Given the description of an element on the screen output the (x, y) to click on. 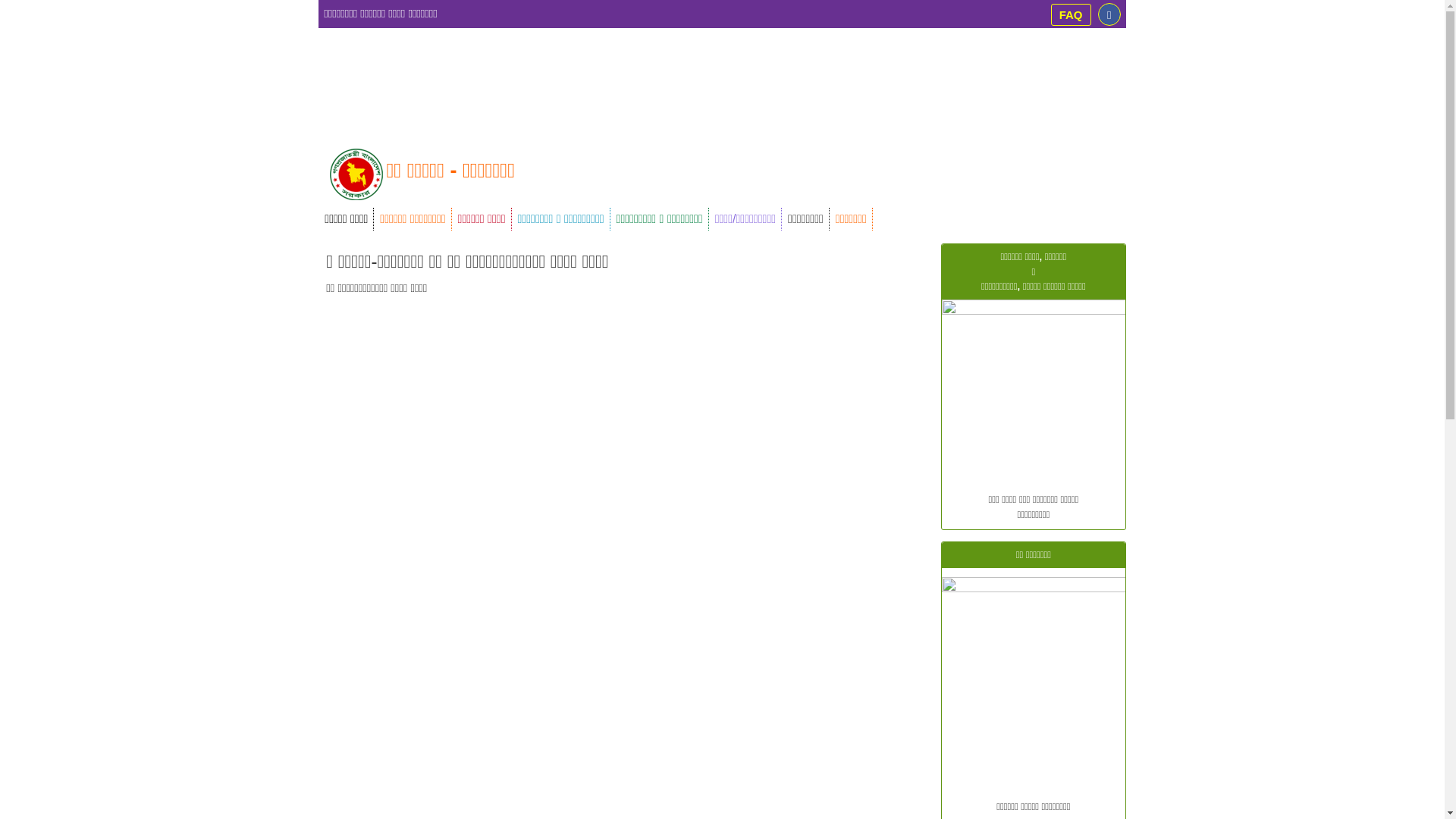
FAQ Element type: text (1071, 14)
